Given the description of an element on the screen output the (x, y) to click on. 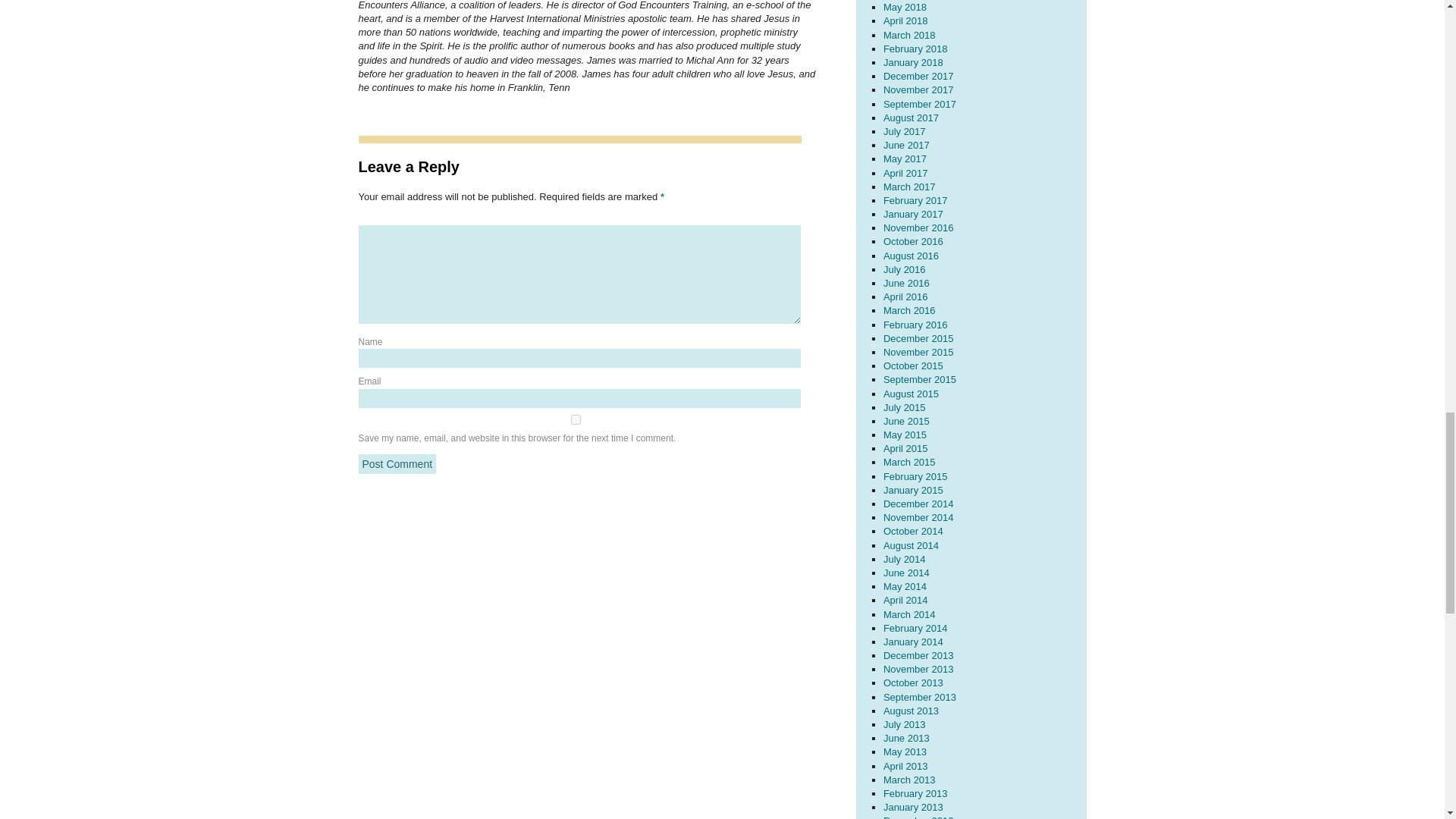
yes (575, 419)
Post Comment (396, 464)
